Given the description of an element on the screen output the (x, y) to click on. 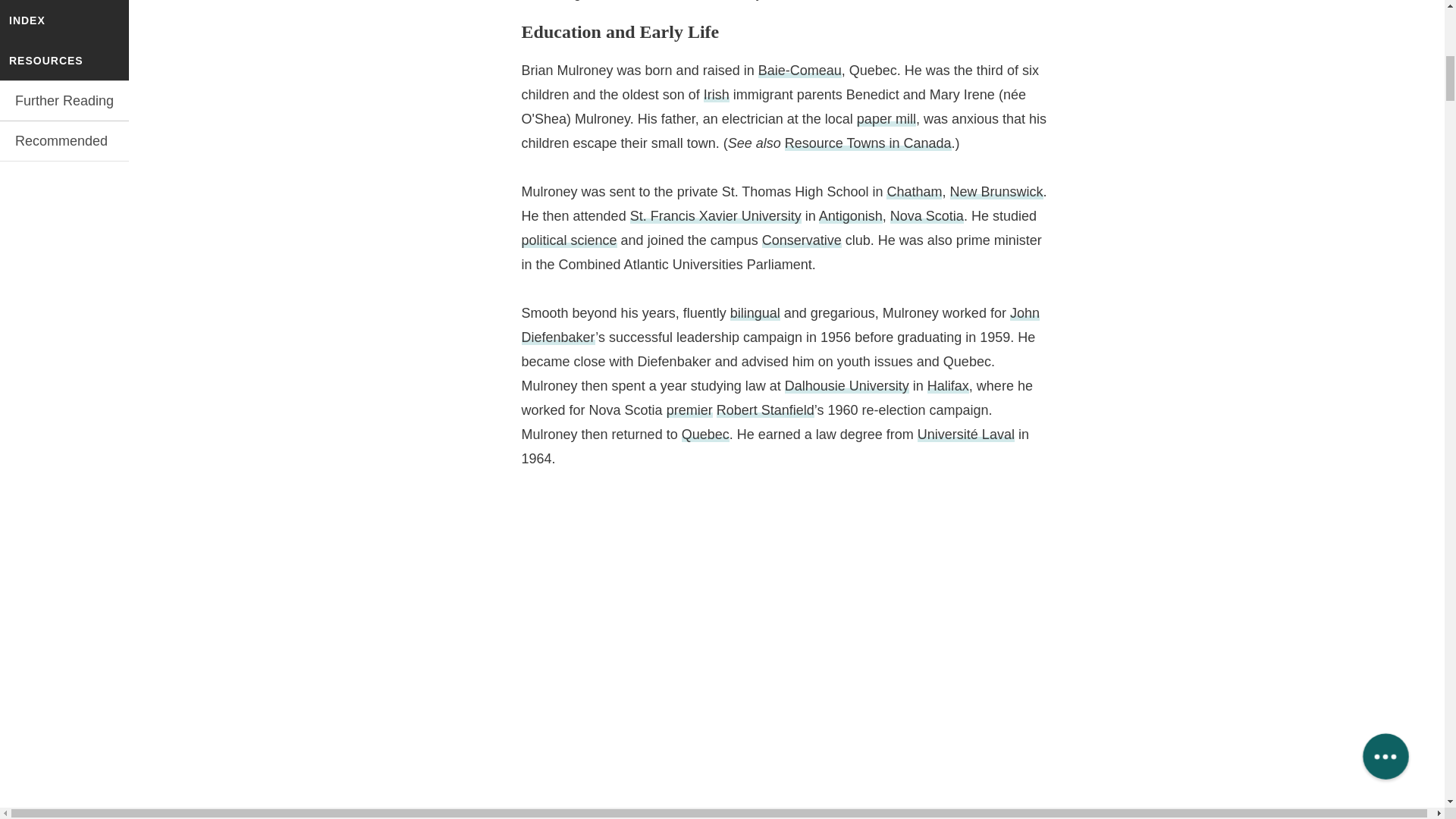
The Right Honourable Brian Mulroney (641, 2)
